Given the description of an element on the screen output the (x, y) to click on. 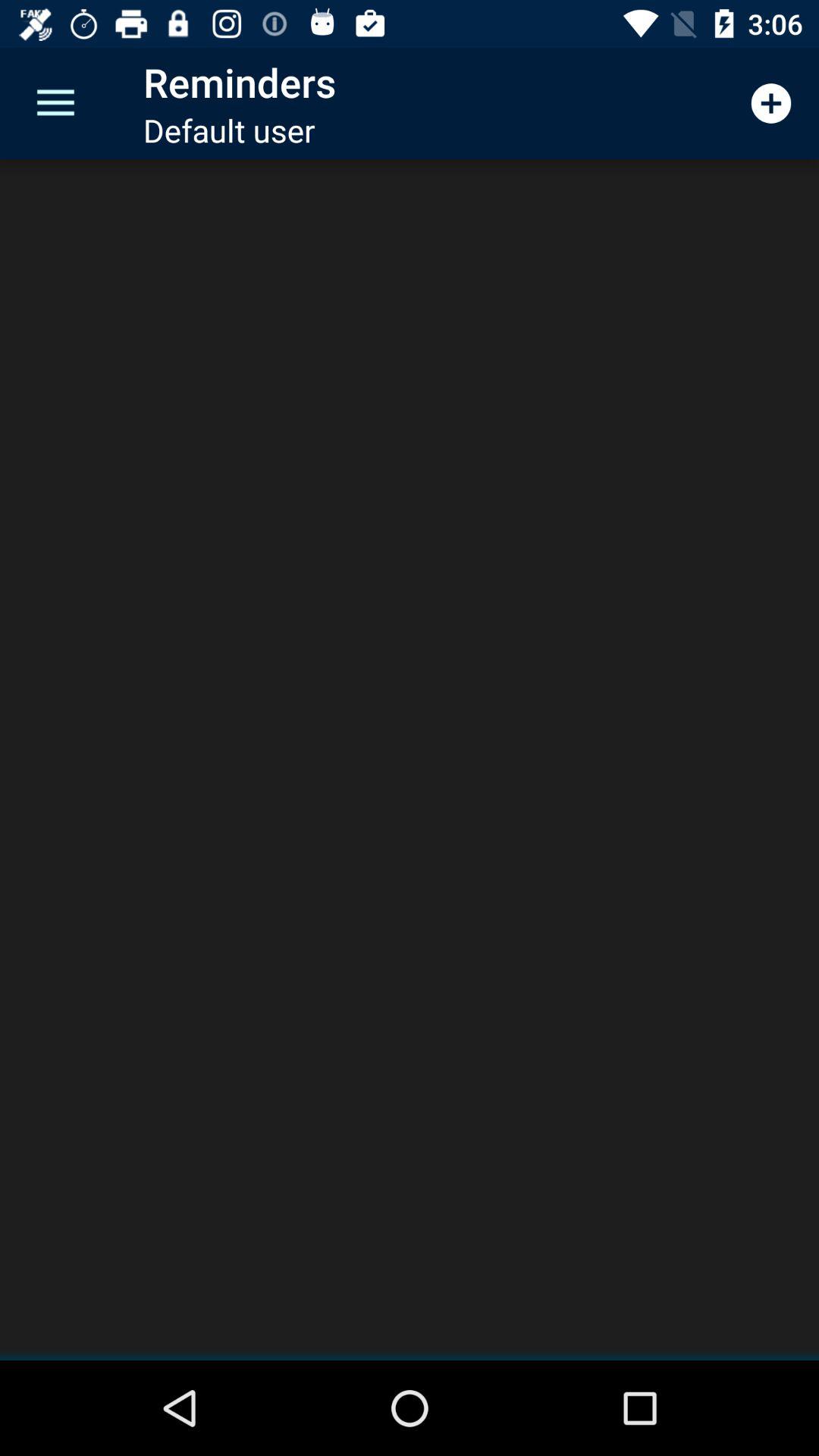
select item to the left of reminders item (55, 103)
